Given the description of an element on the screen output the (x, y) to click on. 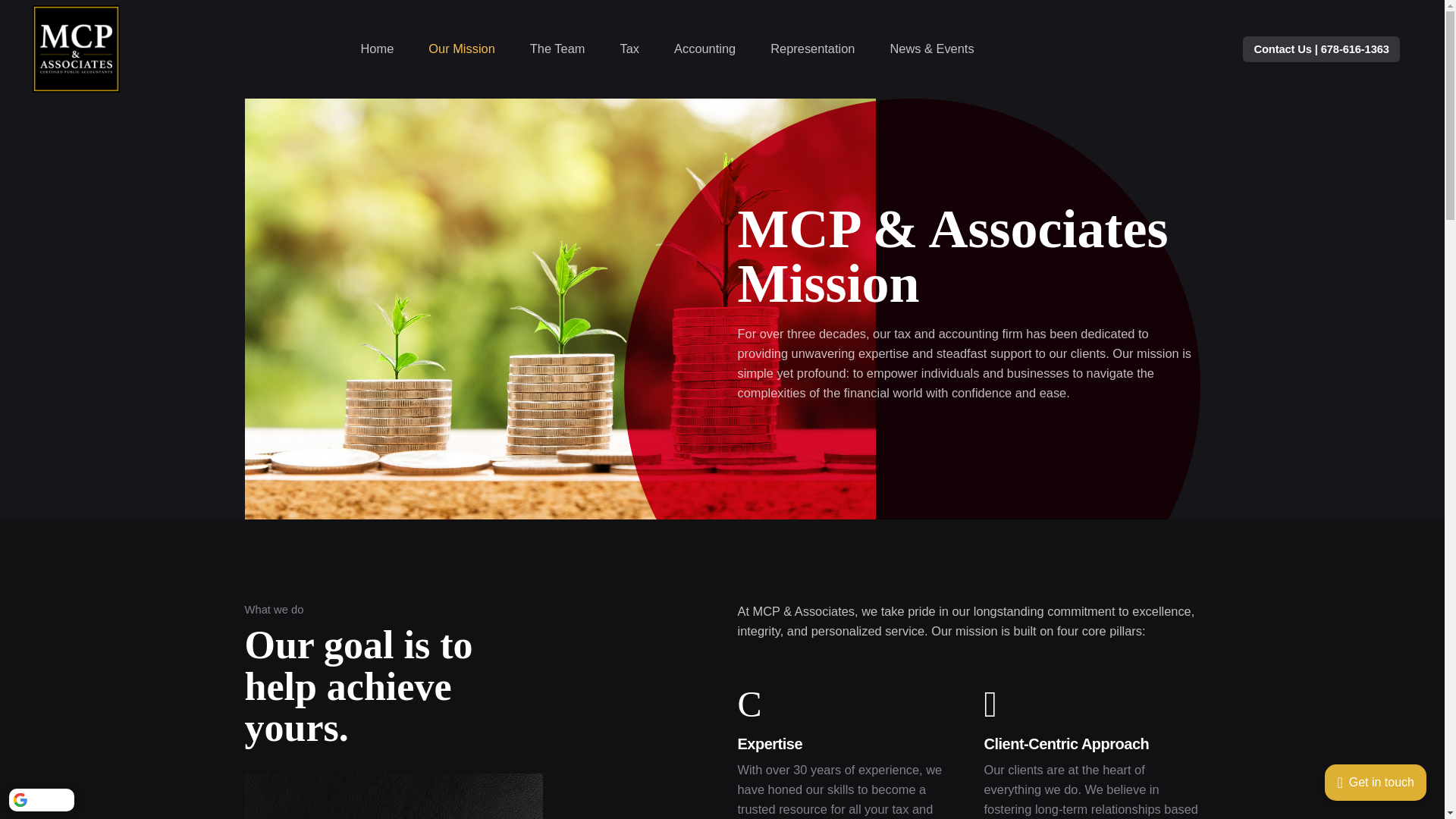
Representation (812, 49)
Accounting (704, 49)
Home (376, 49)
The Team (557, 49)
Tax (629, 49)
piggy-bank-key (392, 796)
Get in touch (1374, 782)
Our Mission (461, 49)
